Given the description of an element on the screen output the (x, y) to click on. 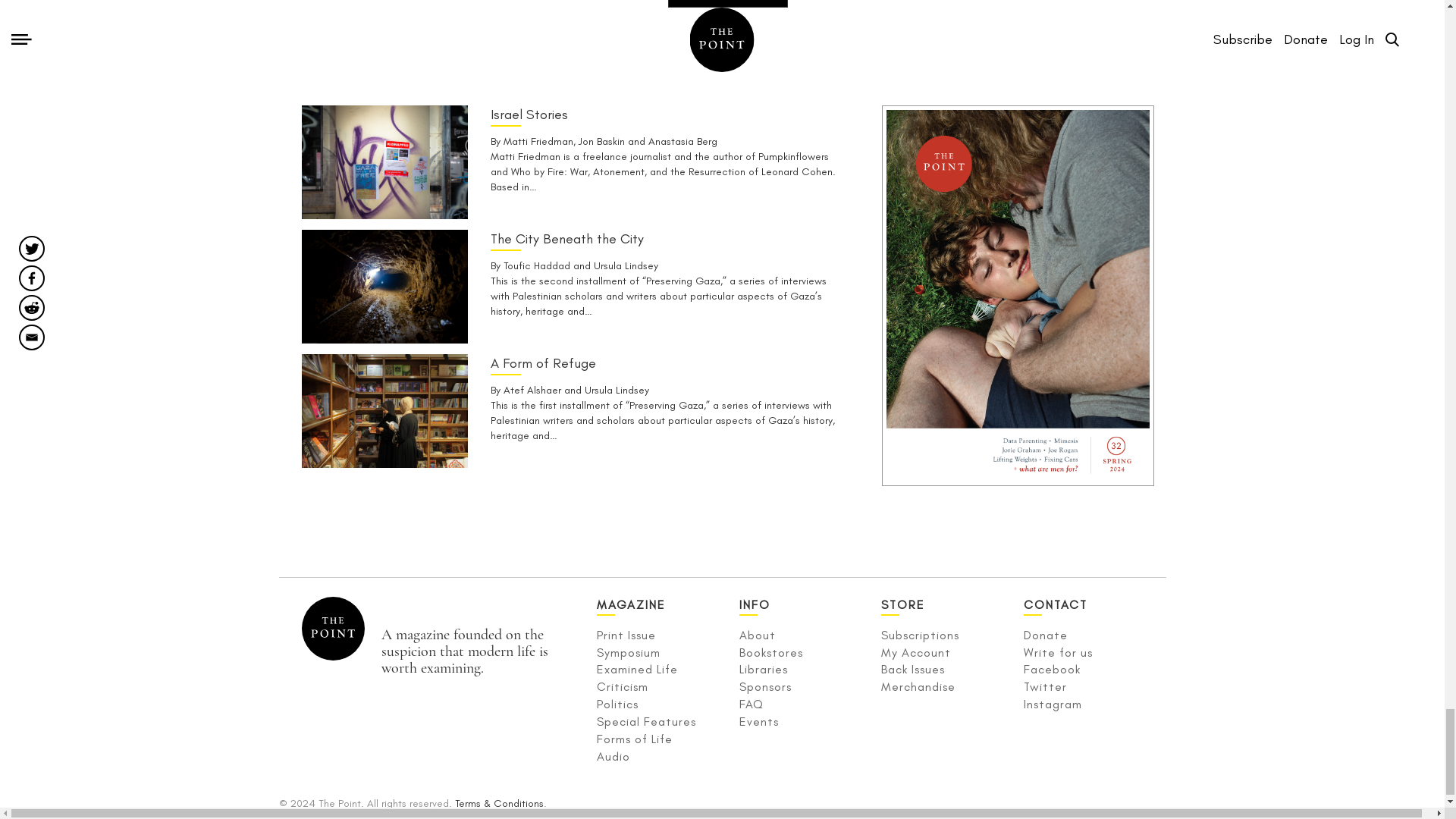
Posts by Ursula Lindsey (626, 265)
Posts by Jon Baskin (601, 141)
Posts by Matti Friedman (538, 141)
Posts by Anastasia Berg (682, 141)
Posts by Atef Alshaer (531, 390)
Posts by Ursula Lindsey (617, 390)
Posts by Toufic Haddad (536, 265)
